Given the description of an element on the screen output the (x, y) to click on. 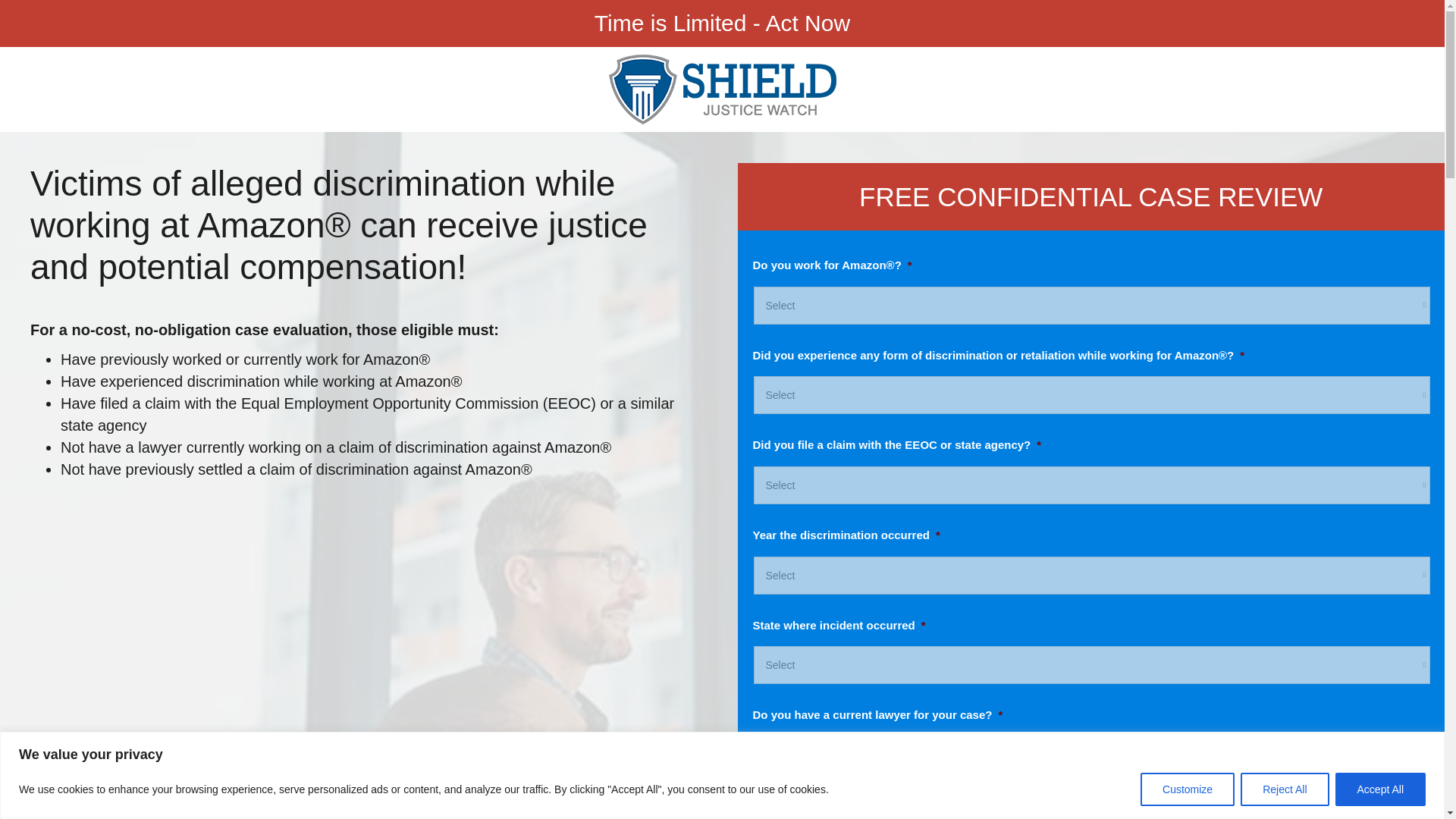
Customize (1187, 788)
shieldjusticewatch (721, 89)
Reject All (1283, 788)
Accept All (1380, 788)
